Given the description of an element on the screen output the (x, y) to click on. 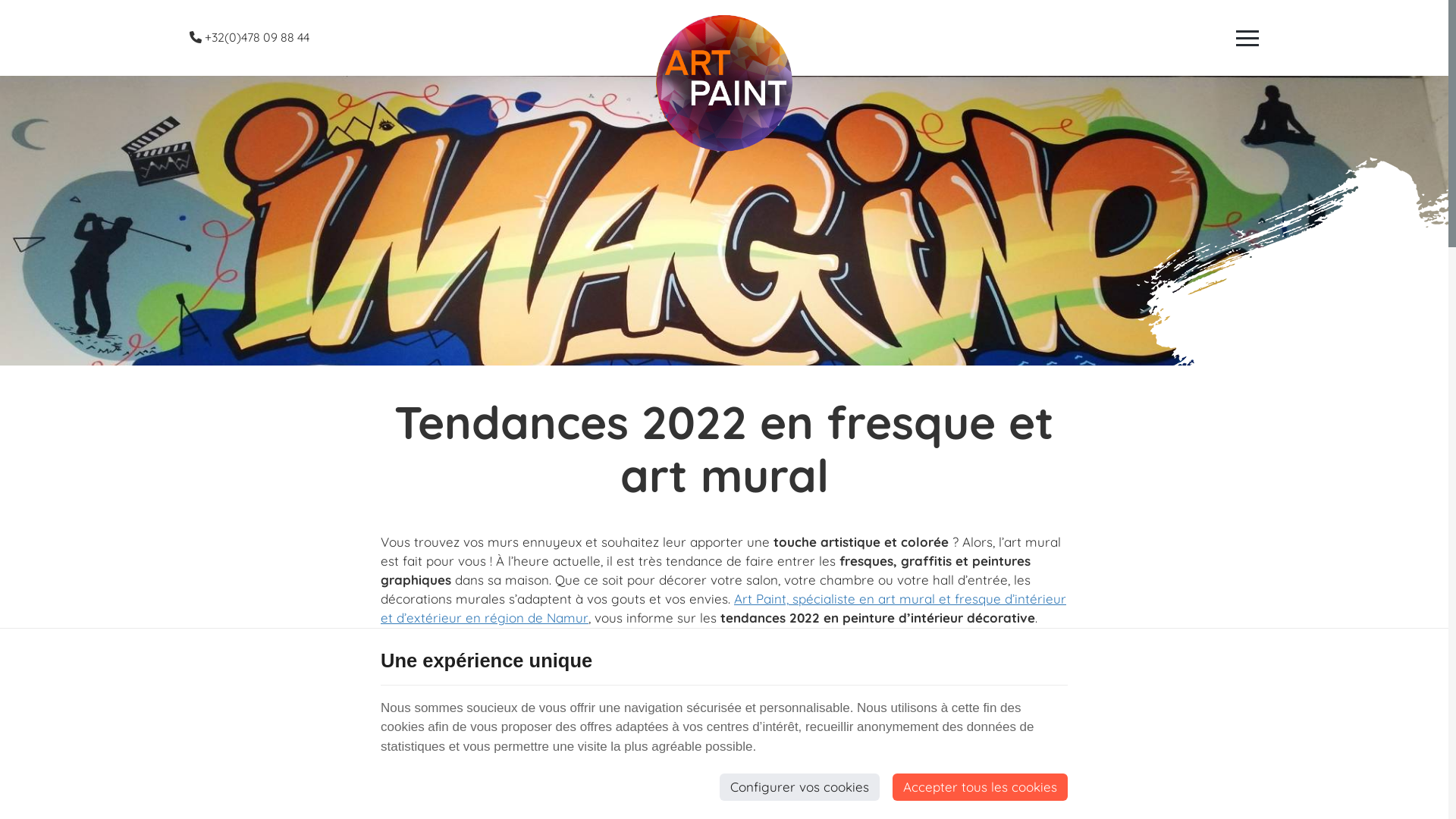
+32(0)478 09 88 44 Element type: text (249, 37)
Accepter tous les cookies Element type: text (979, 786)
Configurer vos cookies Element type: text (799, 786)
Art Paint Element type: hover (723, 83)
